Given the description of an element on the screen output the (x, y) to click on. 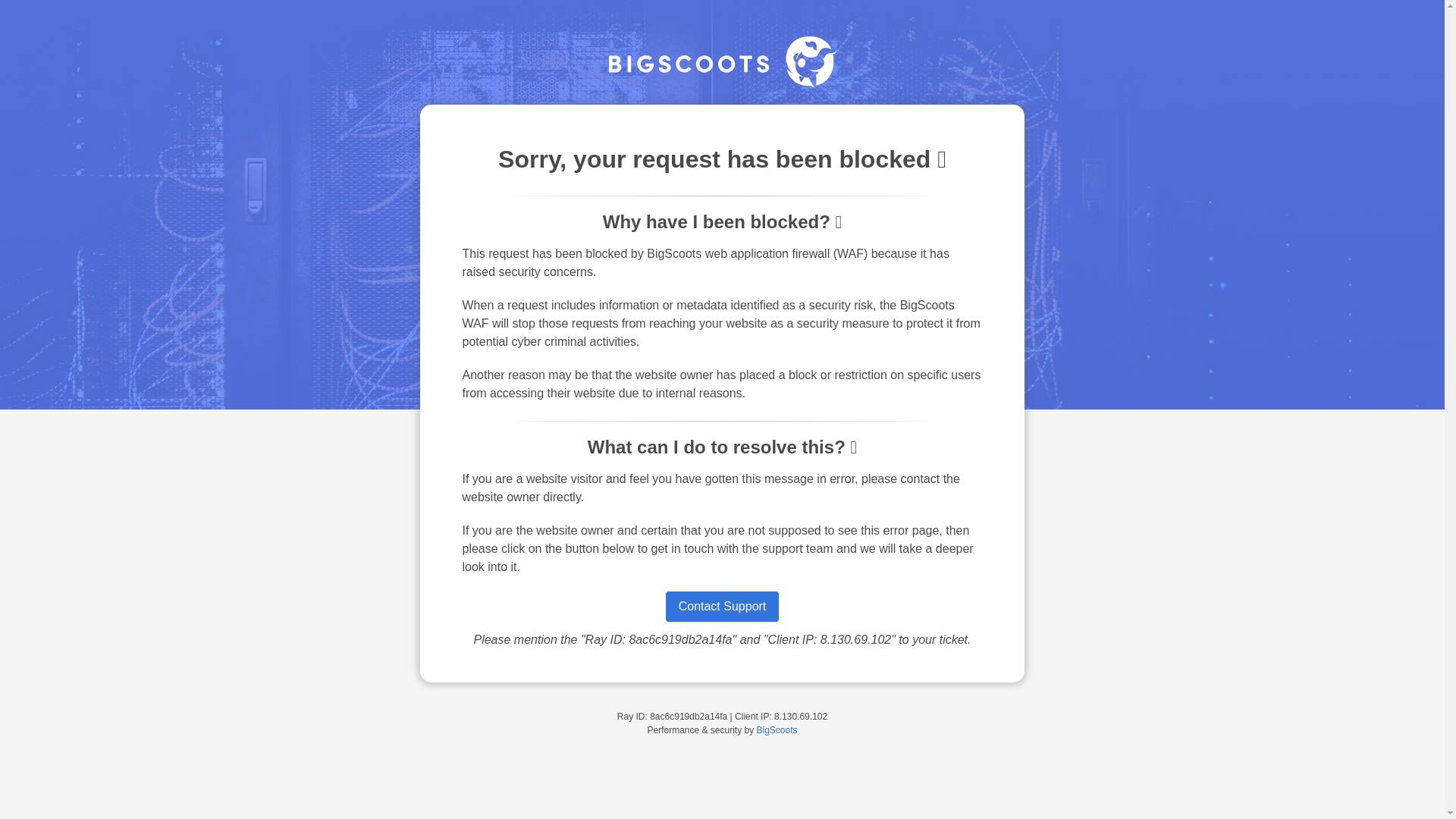
Contact Support (721, 606)
BigScoots (777, 729)
